Given the description of an element on the screen output the (x, y) to click on. 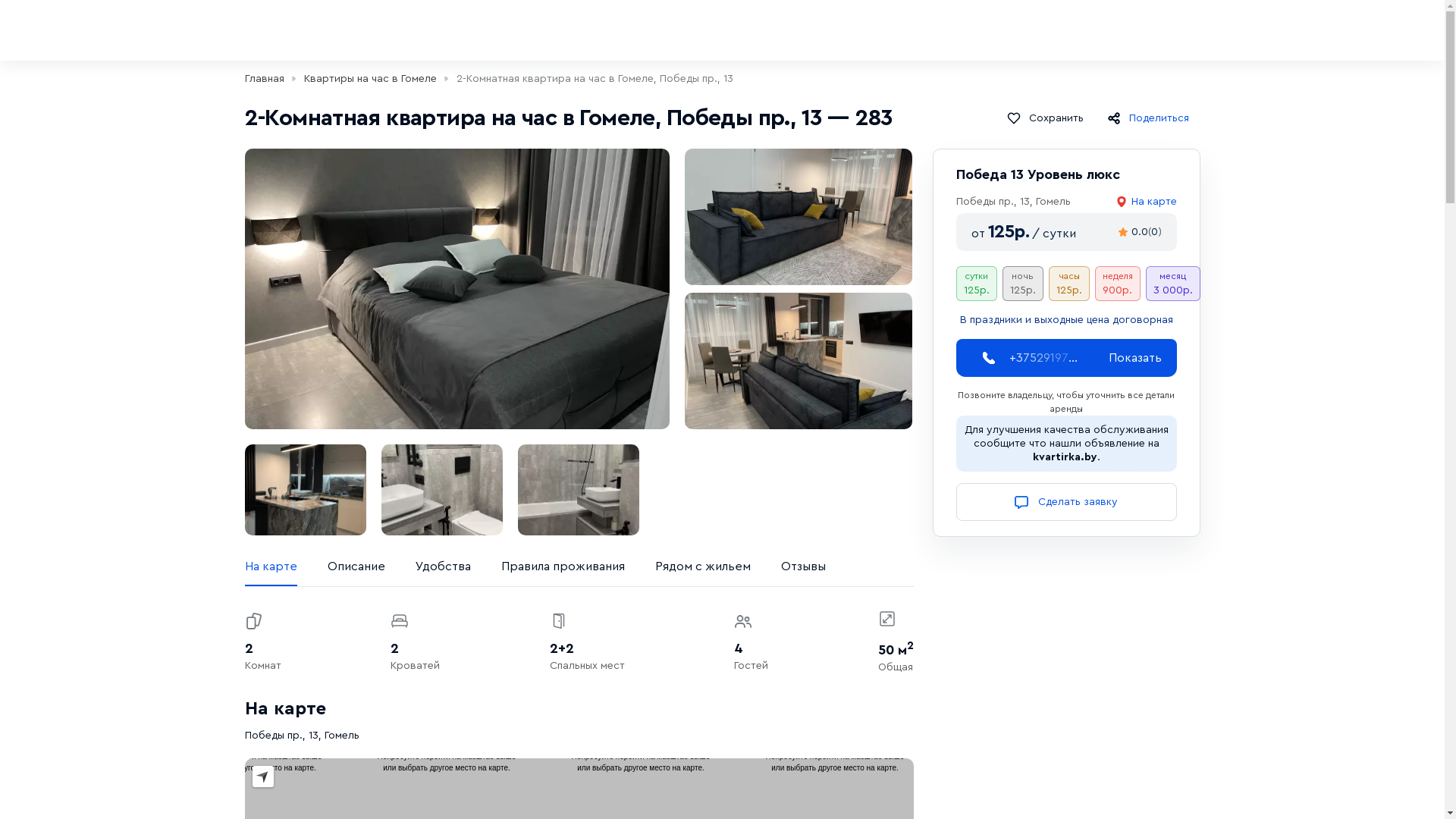
+3752919726 Element type: text (1043, 357)
